Given the description of an element on the screen output the (x, y) to click on. 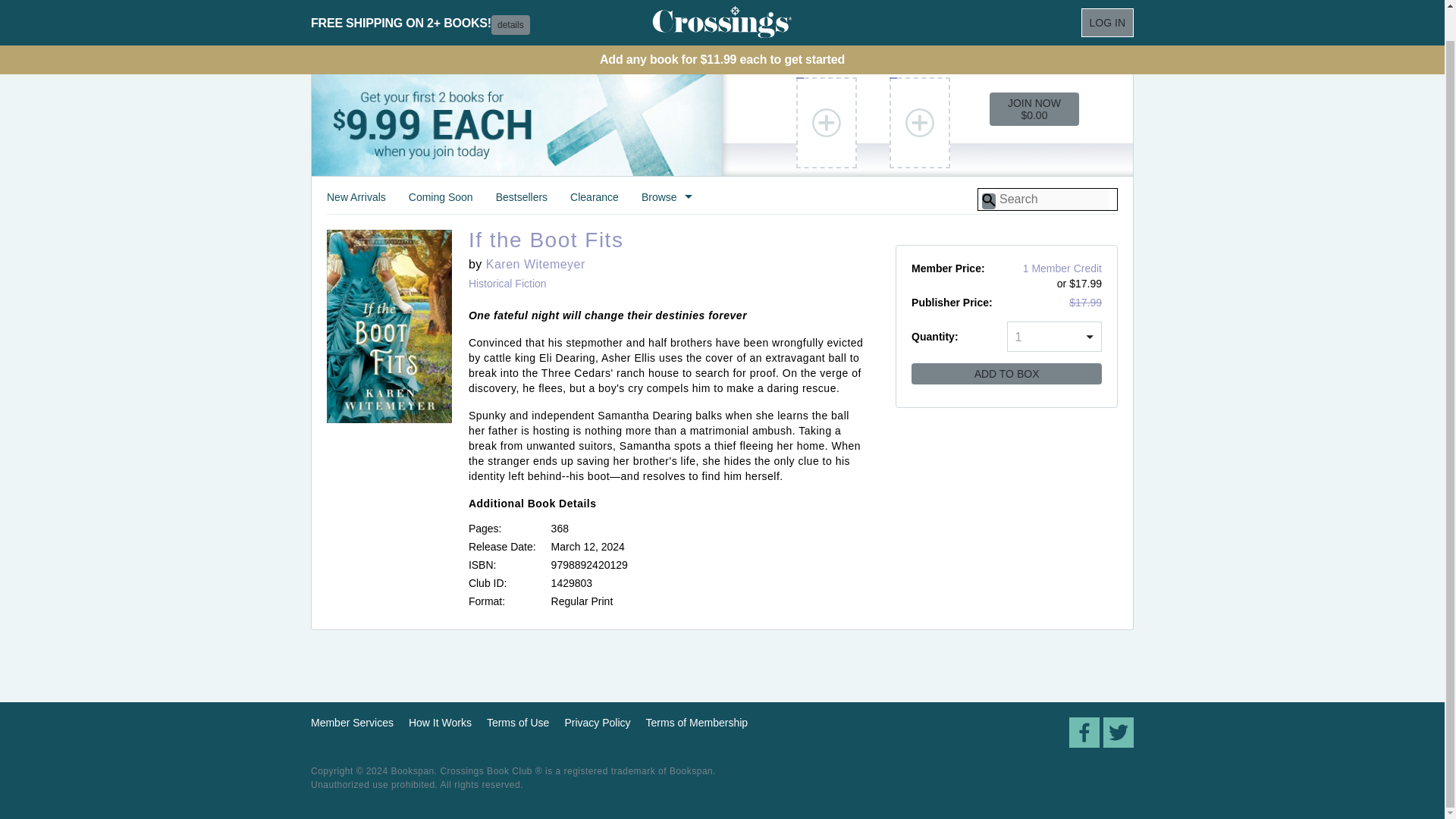
Coming Soon (441, 202)
ADD TO BOX (1006, 373)
How It Works (440, 722)
Terms of Membership (697, 722)
LOG IN (1107, 2)
Privacy Policy (597, 722)
Bestsellers (521, 202)
details (510, 1)
Terms of Use (517, 722)
Member Services (352, 722)
Clearance (594, 202)
New Arrivals (355, 202)
Karen Witemeyer (535, 264)
